Given the description of an element on the screen output the (x, y) to click on. 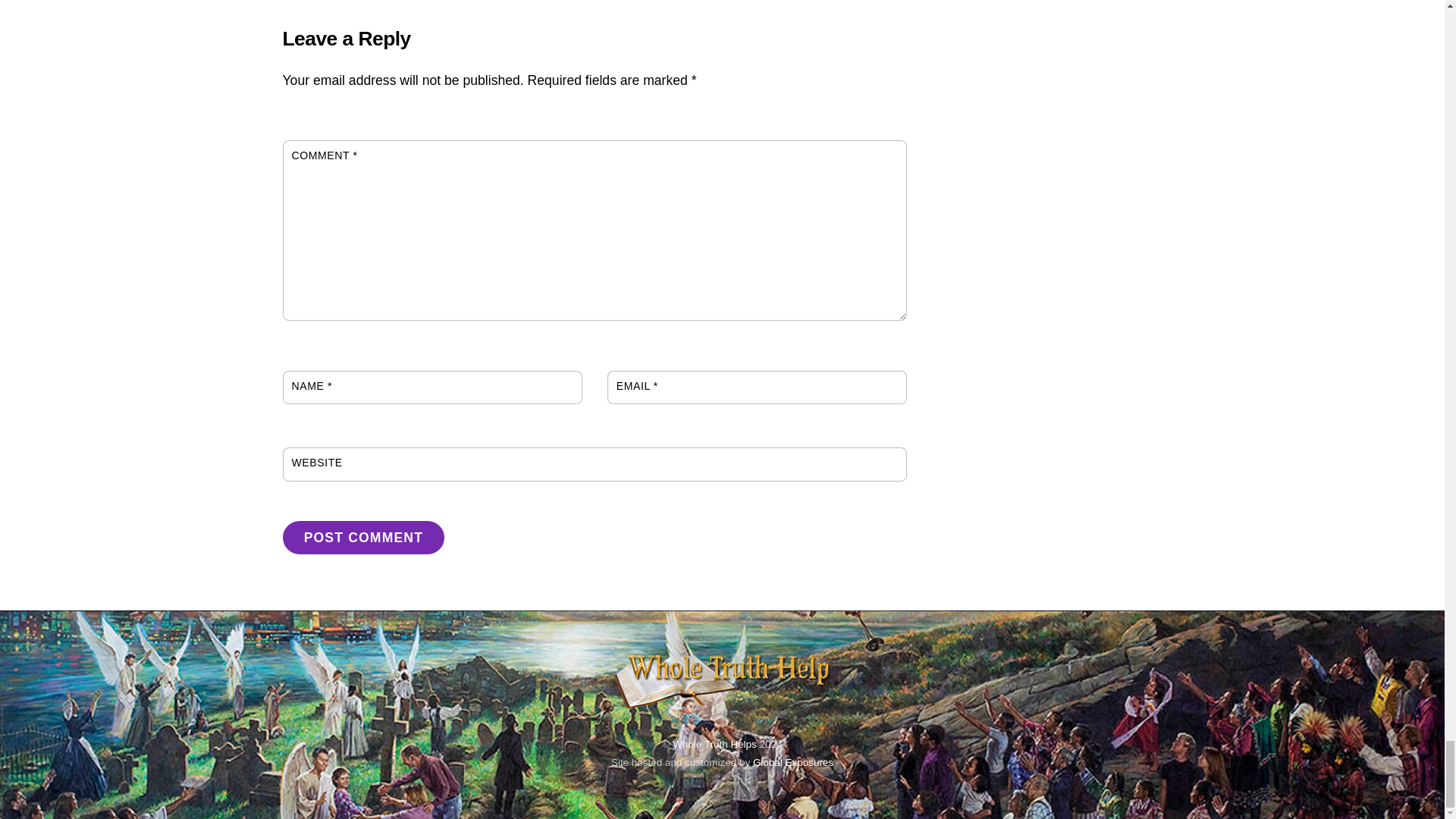
Whole Truth Helps (721, 710)
Post Comment (363, 537)
Post Comment (363, 537)
